Given the description of an element on the screen output the (x, y) to click on. 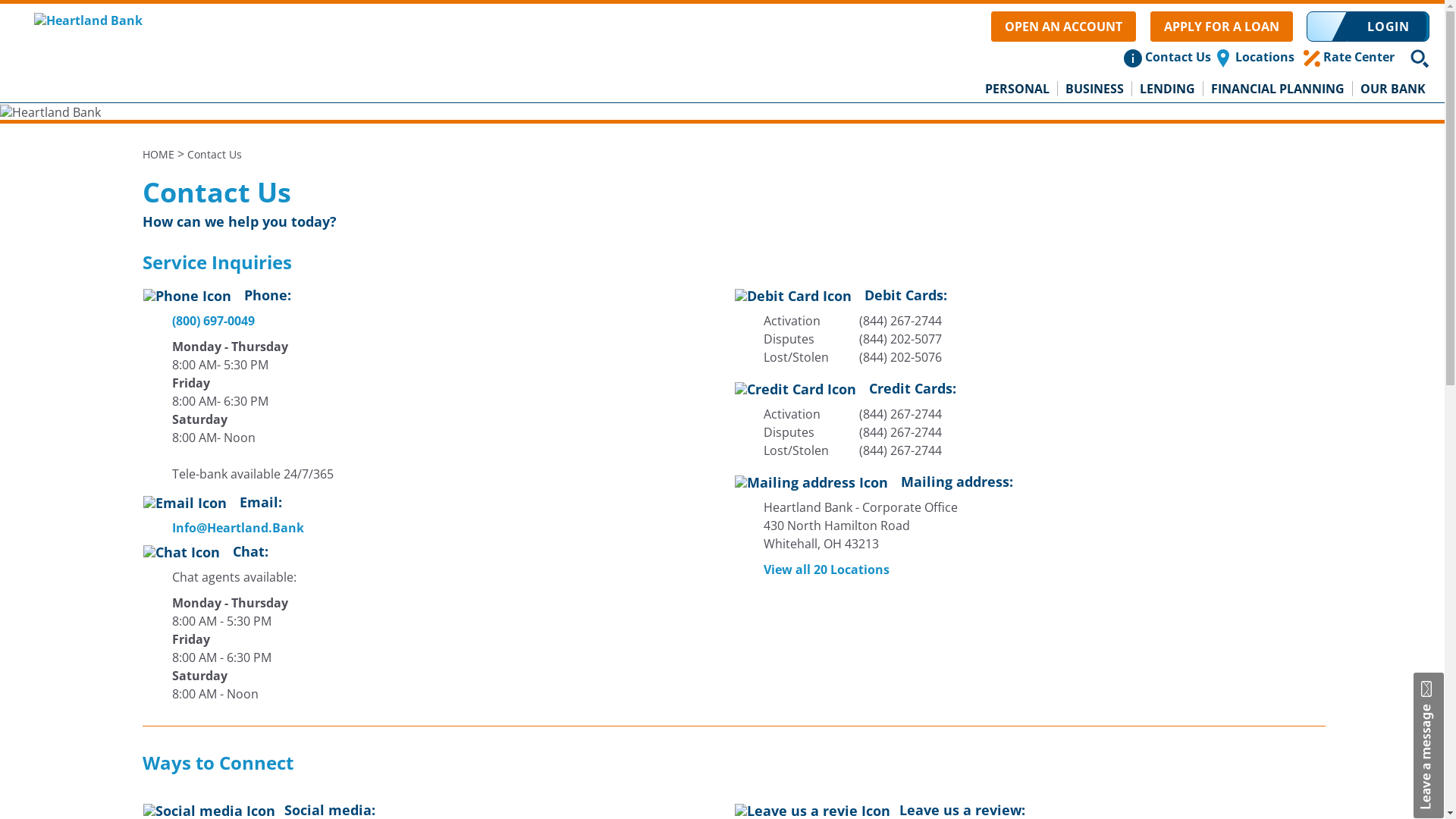
OUR BANK Element type: text (1392, 88)
PERSONAL Element type: text (1017, 88)
APPLY FOR A LOAN Element type: text (1221, 26)
BUSINESS Element type: text (1094, 88)
View all 20 Locations Element type: text (816, 569)
FINANCIAL PLANNING Element type: text (1277, 88)
Contact Us Element type: text (213, 154)
Contact Us Element type: text (1178, 56)
Locations Element type: text (1264, 56)
OPEN AN ACCOUNT Element type: text (1063, 26)
Info@Heartland.Bank Element type: text (228, 527)
HOME Element type: text (158, 154)
Heartland Bank Element type: hover (88, 18)
(800) 697-0049 Element type: text (212, 320)
LOGIN Element type: text (1388, 26)
Heartland Bank Element type: hover (50, 111)
LENDING Element type: text (1167, 88)
Rate Center Element type: text (1358, 56)
